Given the description of an element on the screen output the (x, y) to click on. 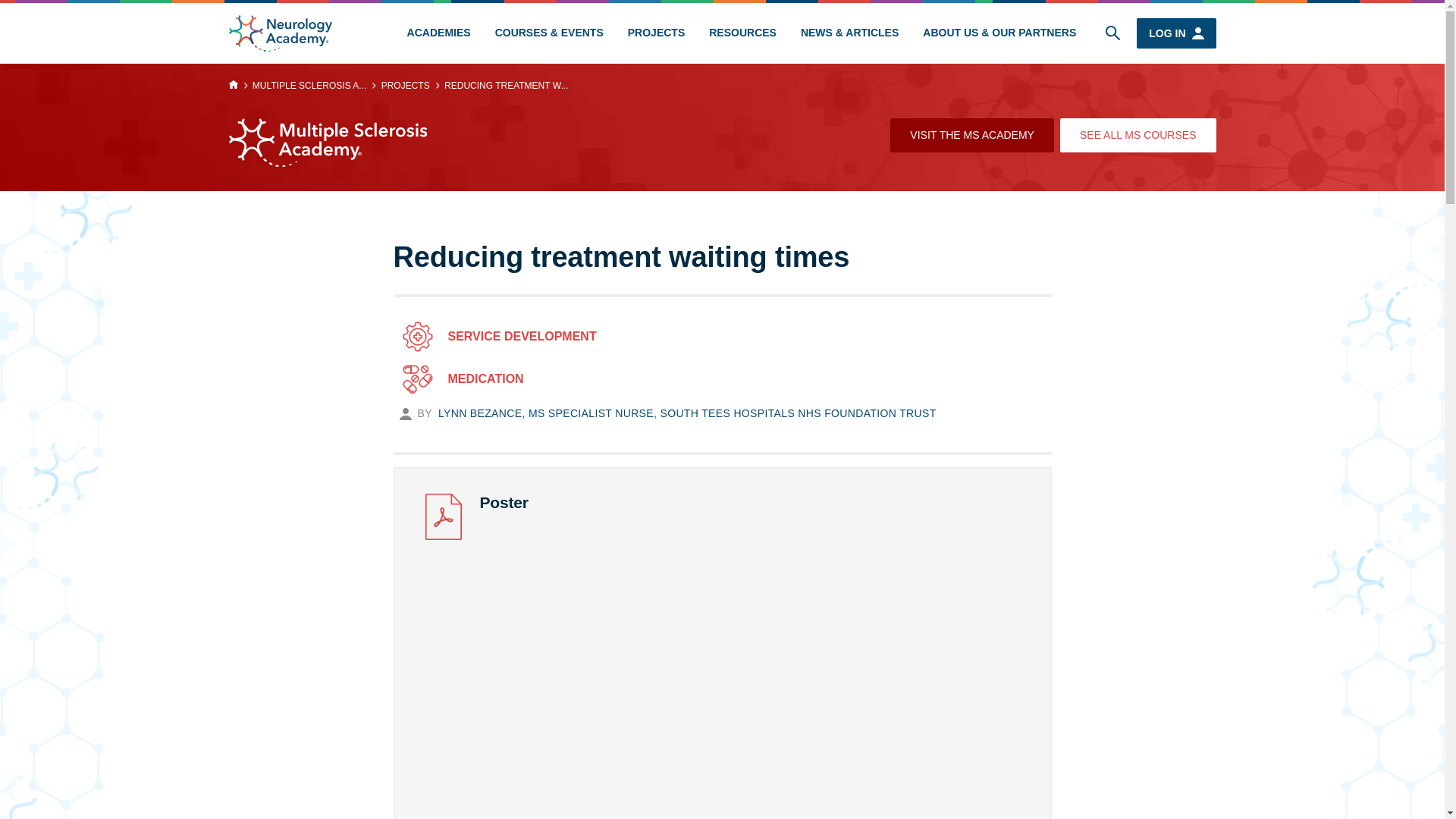
LOG IN (1176, 33)
PROJECTS (656, 32)
ACADEMIES (438, 32)
RESOURCES (743, 32)
